Given the description of an element on the screen output the (x, y) to click on. 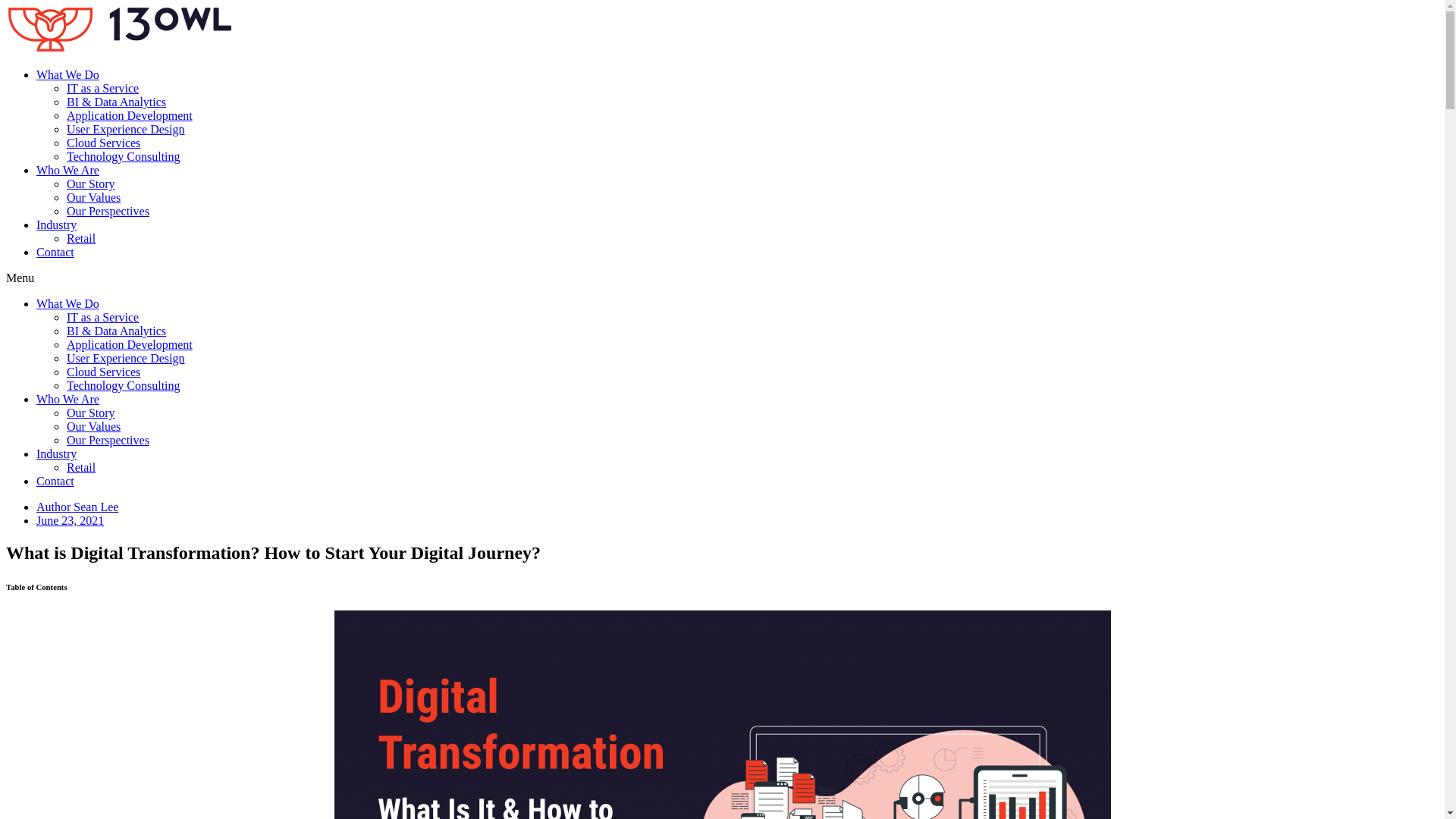
What We Do Element type: text (67, 303)
Industry Element type: text (56, 453)
Our Perspectives Element type: text (107, 210)
What We Do Element type: text (67, 74)
User Experience Design Element type: text (125, 357)
Contact Element type: text (55, 480)
Our Perspectives Element type: text (107, 439)
Our Values Element type: text (93, 197)
User Experience Design Element type: text (125, 128)
Who We Are Element type: text (67, 169)
Contact Element type: text (55, 251)
Technology Consulting Element type: text (123, 385)
Our Values Element type: text (93, 426)
IT as a Service Element type: text (102, 316)
Application Development Element type: text (129, 115)
Technology Consulting Element type: text (123, 156)
Retail Element type: text (80, 467)
Application Development Element type: text (129, 344)
June 23, 2021 Element type: text (69, 520)
BI & Data Analytics Element type: text (116, 330)
Retail Element type: text (80, 238)
Cloud Services Element type: text (103, 371)
Industry Element type: text (56, 224)
IT as a Service Element type: text (102, 87)
Cloud Services Element type: text (103, 142)
Our Story Element type: text (90, 183)
Who We Are Element type: text (67, 398)
Our Story Element type: text (90, 412)
Author Sean Lee Element type: text (77, 506)
BI & Data Analytics Element type: text (116, 101)
